Given the description of an element on the screen output the (x, y) to click on. 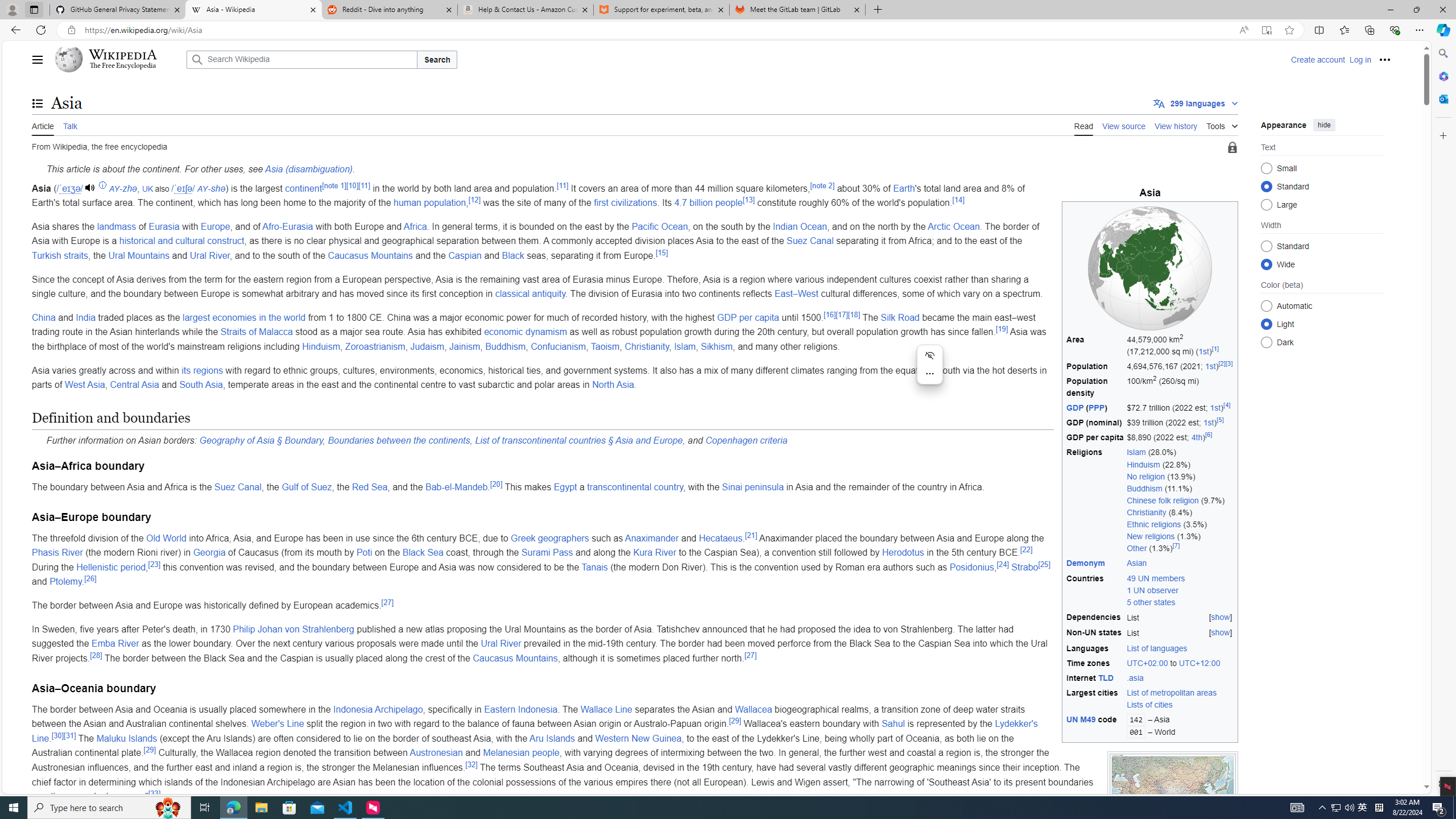
[11] (562, 185)
Time zones (1095, 663)
$72.7 trillion (2022 est; 1st)[4] (1179, 408)
Zoroastrianism (375, 346)
Indian Ocean (800, 226)
Black (513, 255)
South Asia (200, 384)
.asia (1135, 678)
Mini menu on text selection (929, 364)
